Given the description of an element on the screen output the (x, y) to click on. 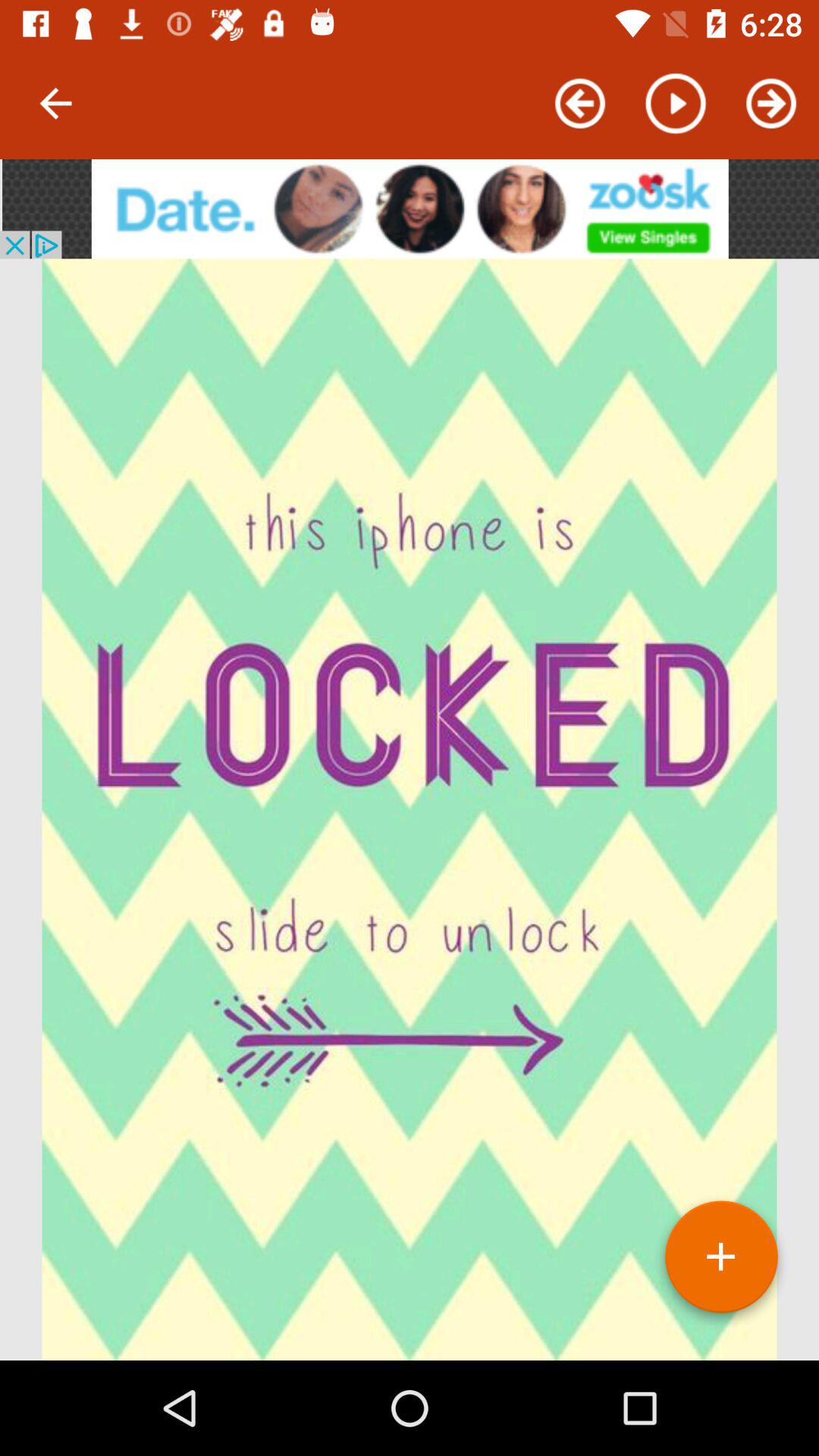
advertiser banner (409, 208)
